Given the description of an element on the screen output the (x, y) to click on. 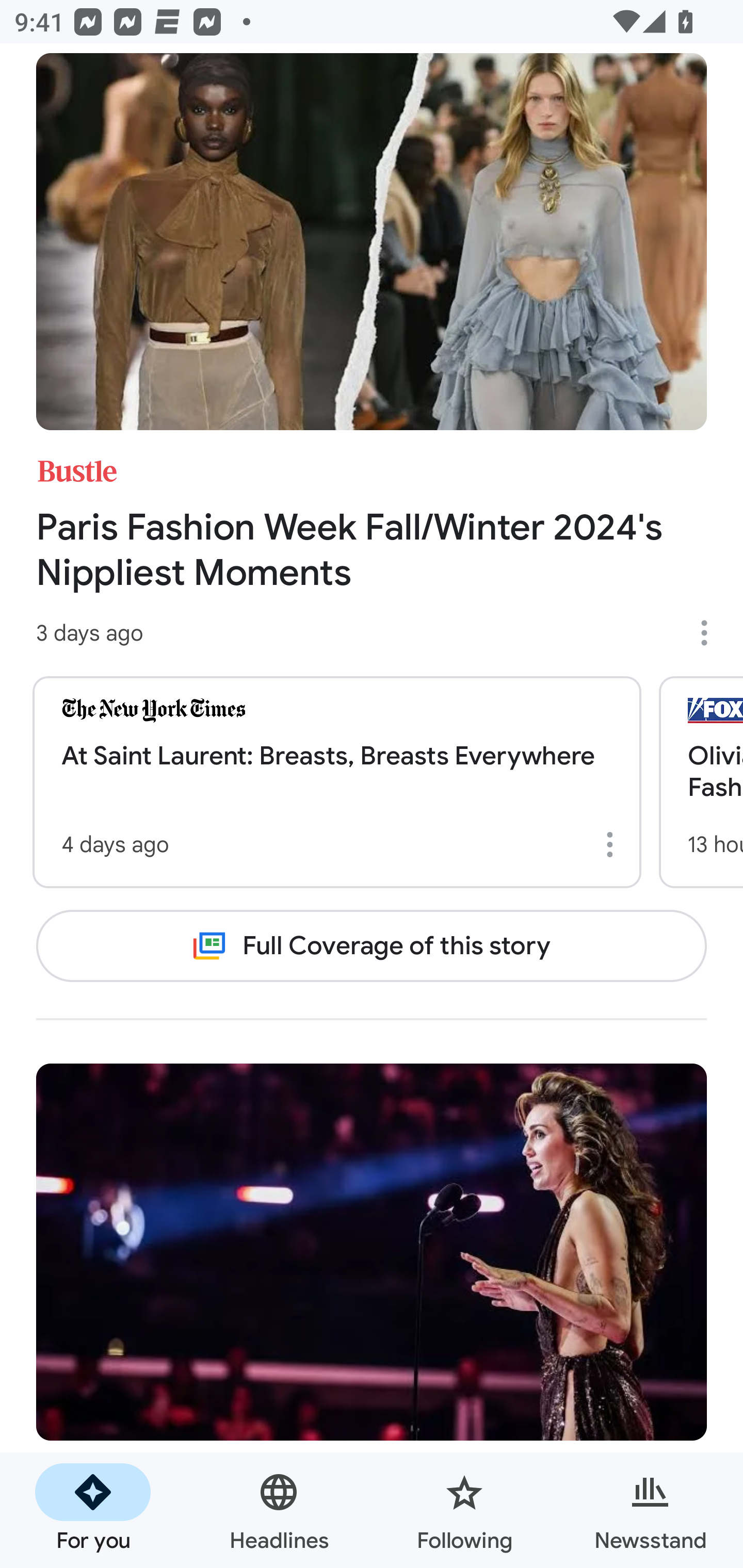
More options (711, 632)
More options (613, 843)
Full Coverage of this story (371, 945)
For you (92, 1509)
Headlines (278, 1509)
Following (464, 1509)
Newsstand (650, 1509)
